Given the description of an element on the screen output the (x, y) to click on. 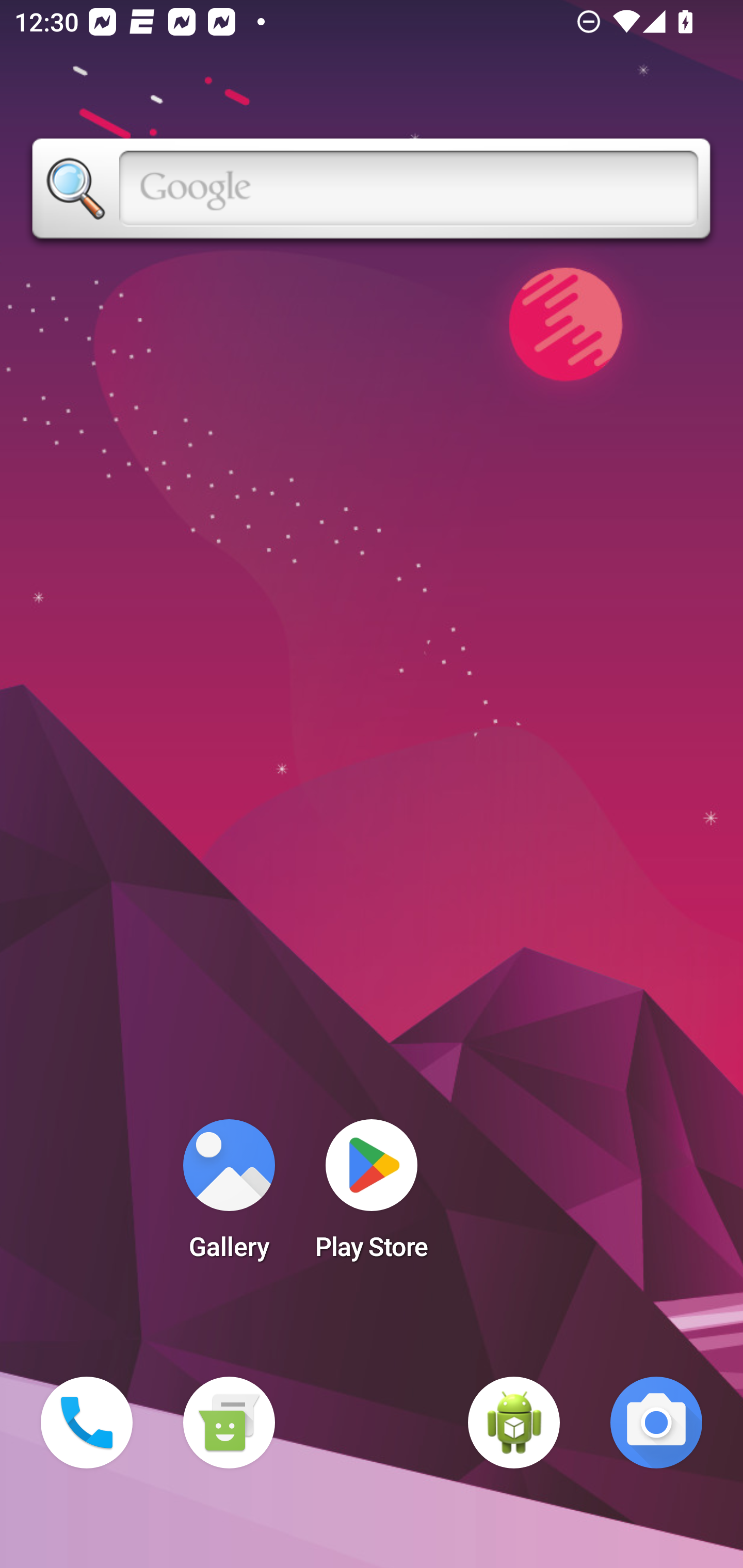
Gallery (228, 1195)
Play Store (371, 1195)
Phone (86, 1422)
Messaging (228, 1422)
WebView Browser Tester (513, 1422)
Camera (656, 1422)
